Given the description of an element on the screen output the (x, y) to click on. 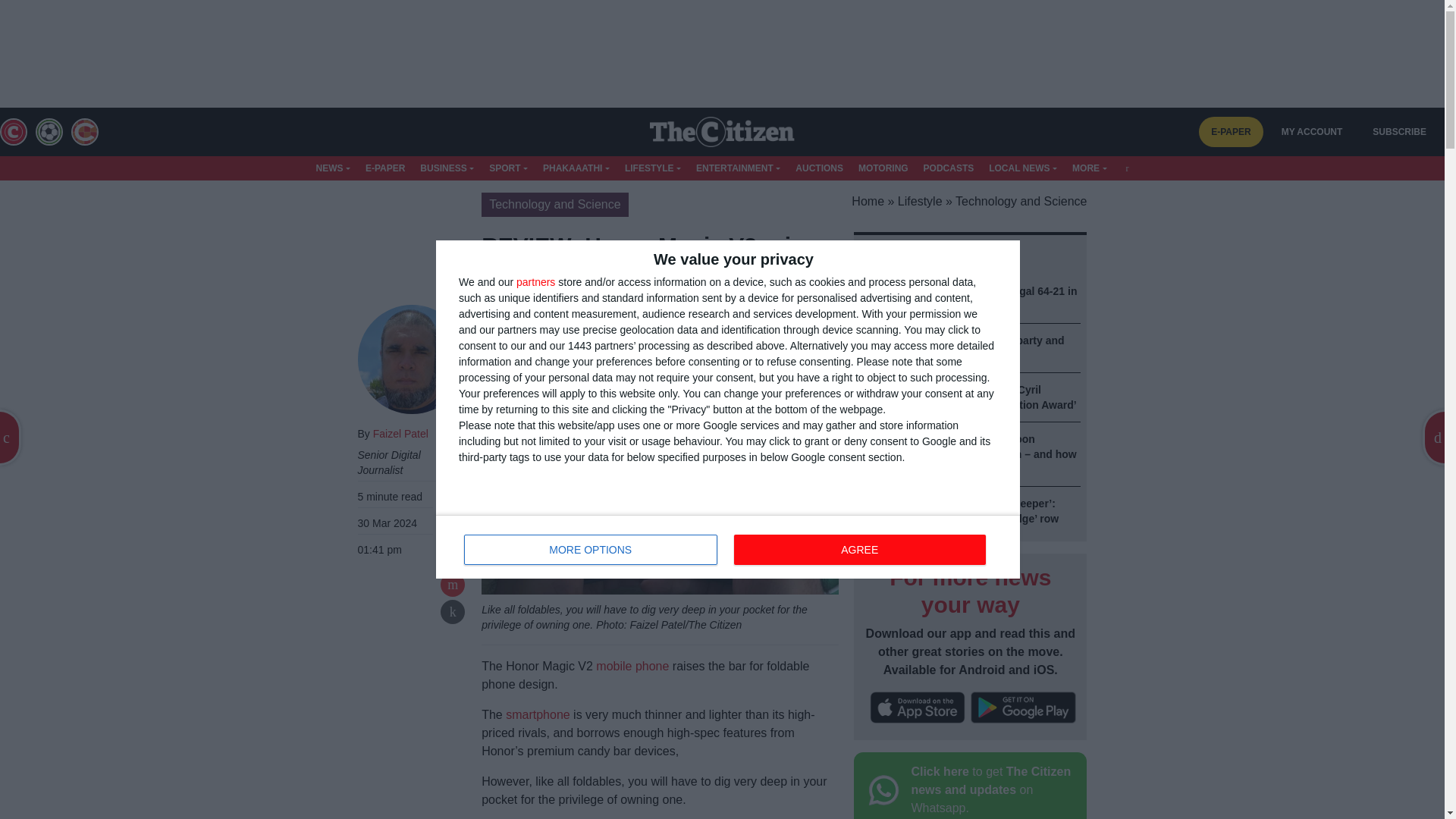
AGREE (727, 546)
partners (859, 549)
MORE OPTIONS (535, 281)
